Given the description of an element on the screen output the (x, y) to click on. 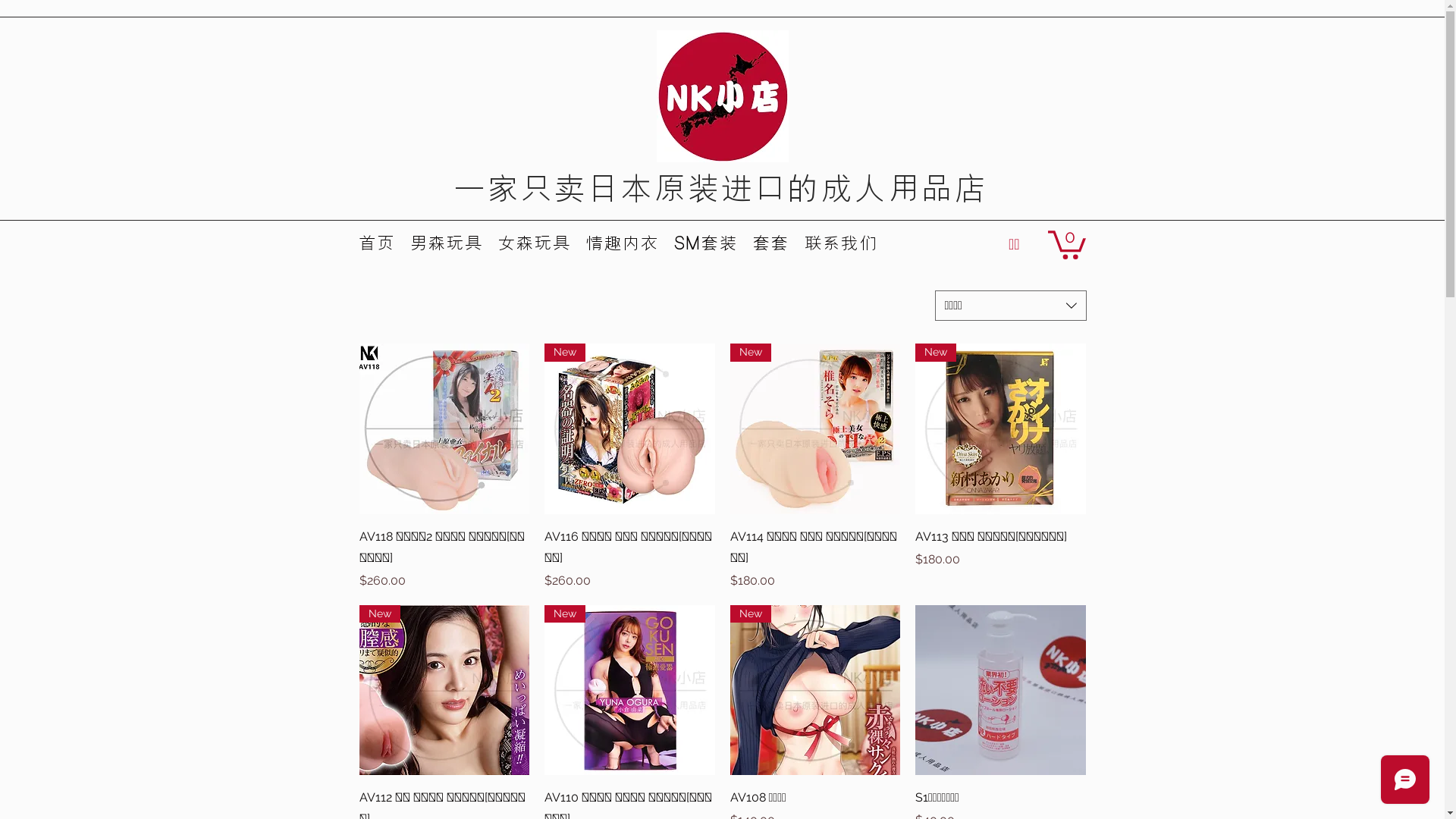
New Element type: text (444, 690)
New Element type: text (814, 690)
New Element type: text (629, 428)
0 Element type: text (1066, 243)
New Element type: text (629, 690)
New Element type: text (1000, 428)
New Element type: text (814, 428)
